Given the description of an element on the screen output the (x, y) to click on. 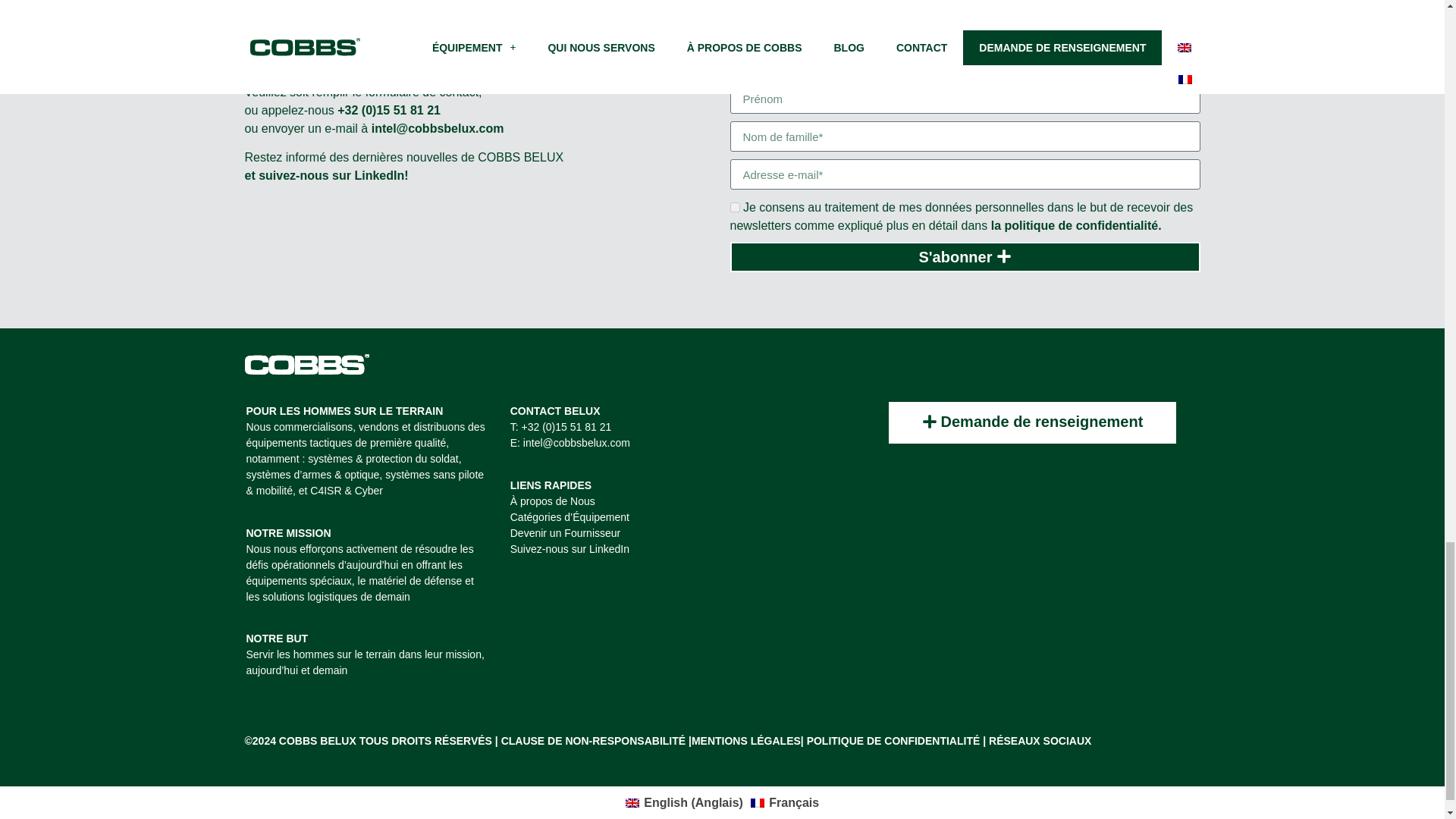
on (734, 207)
